Given the description of an element on the screen output the (x, y) to click on. 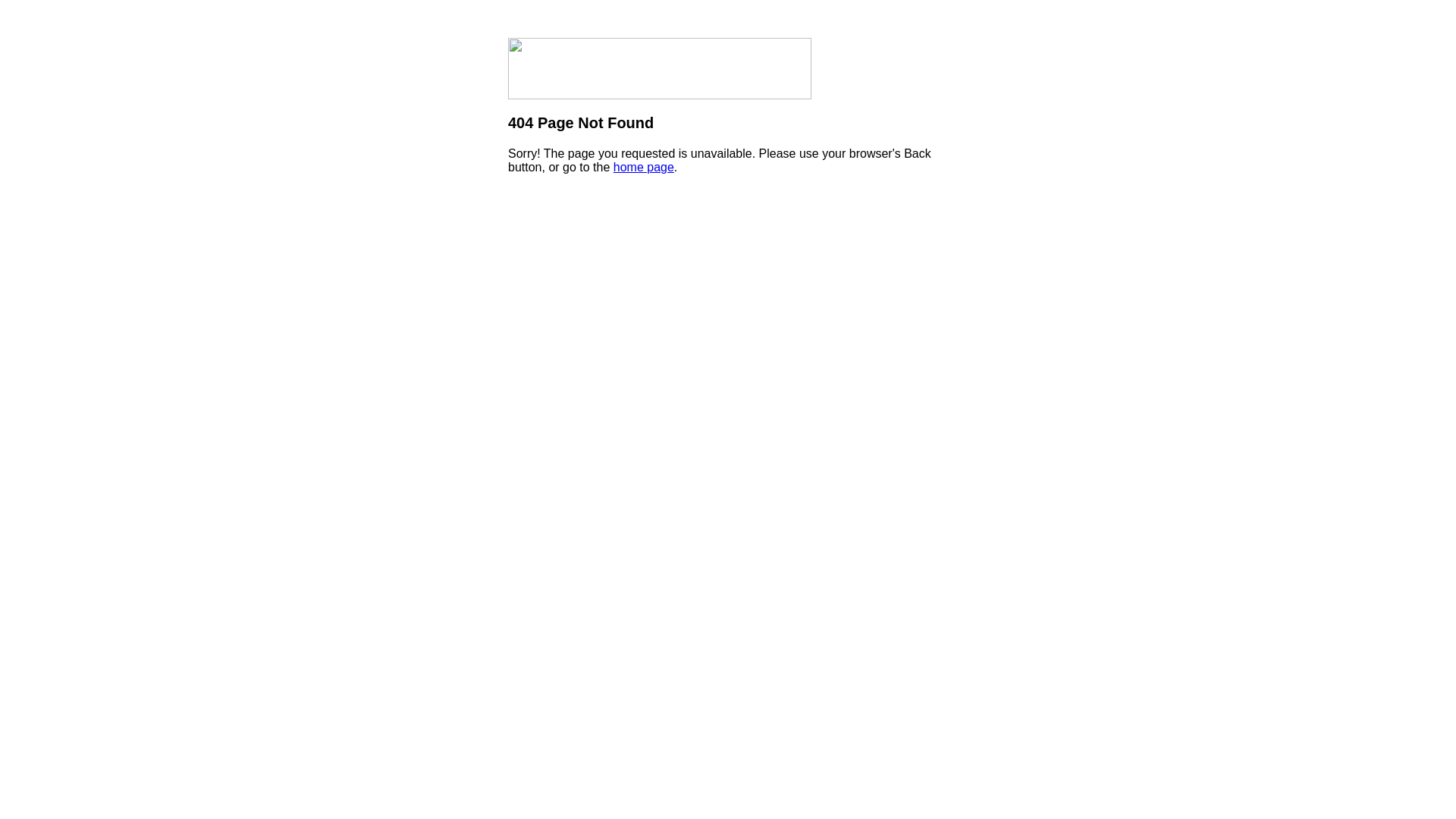
home page Element type: text (643, 166)
